Given the description of an element on the screen output the (x, y) to click on. 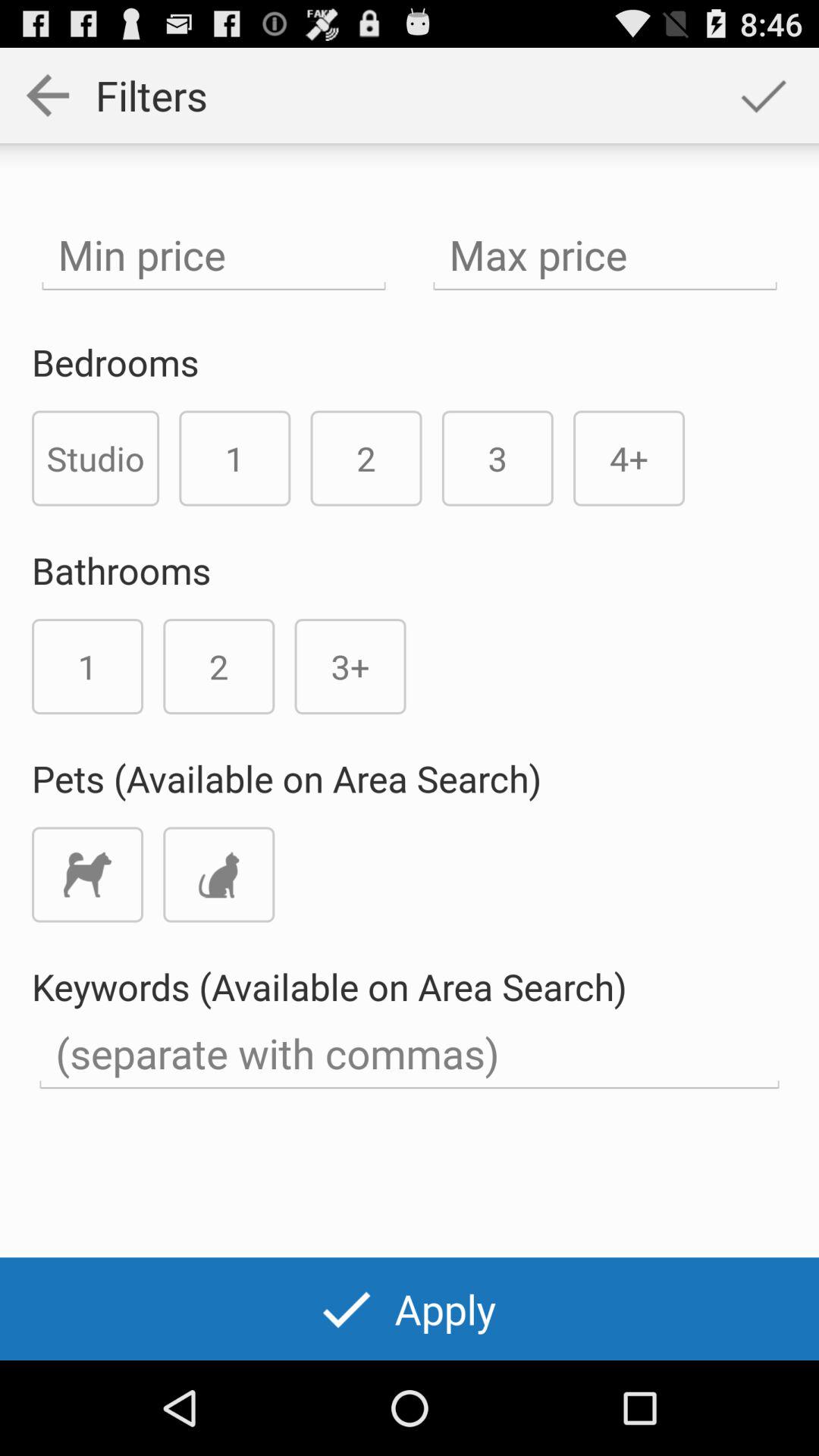
press the apply (409, 1308)
